Given the description of an element on the screen output the (x, y) to click on. 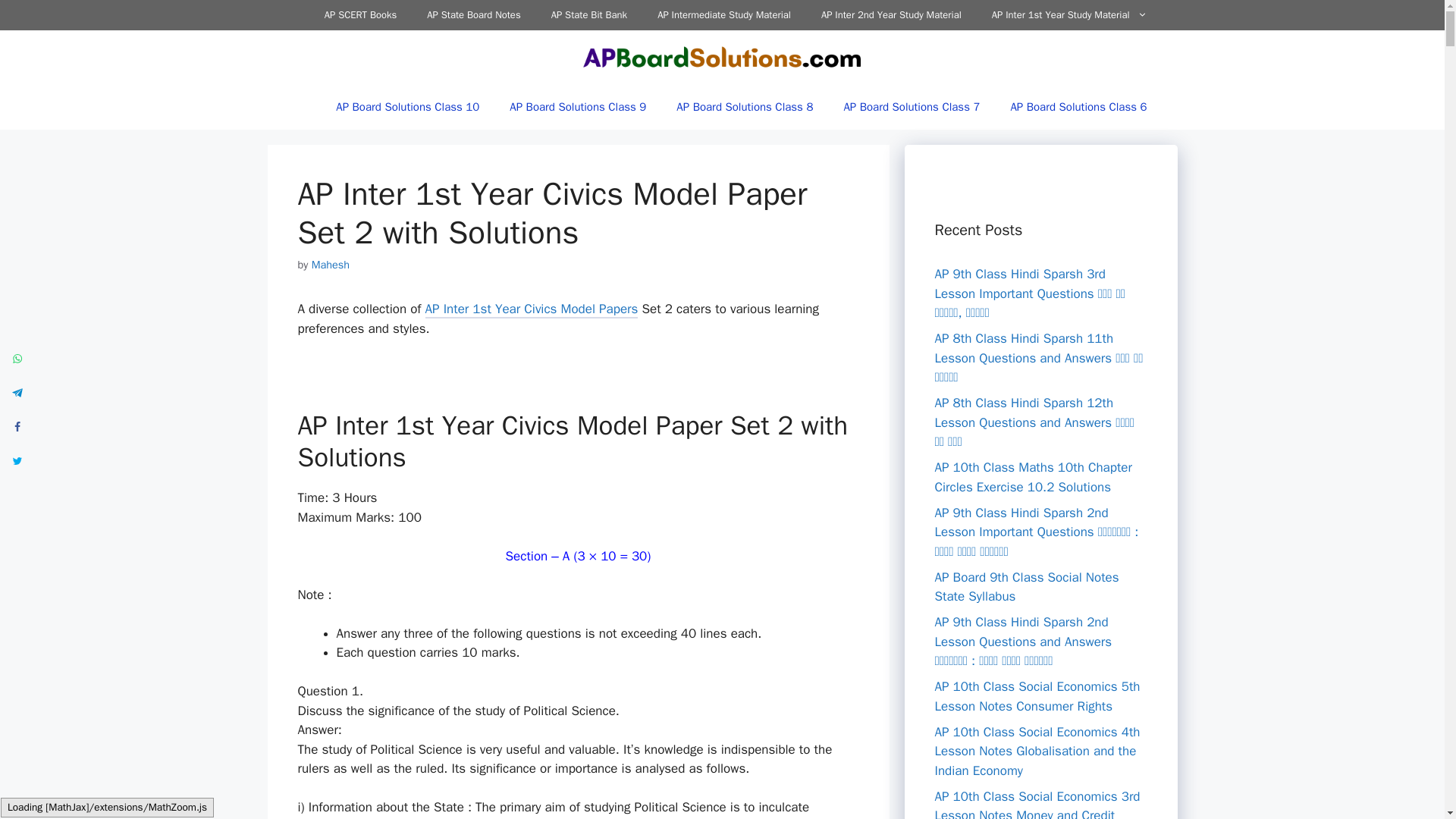
AP Board Solutions Class 9 (578, 106)
AP Board Solutions Class 10 (407, 106)
AP Board Solutions Class 6 (1077, 106)
AP SCERT Books (360, 15)
AP Board Solutions (722, 56)
AP State Bit Bank (588, 15)
Share on WhatsApp (16, 358)
AP Inter 1st Year Study Material (1068, 15)
AP Board Solutions Class 7 (911, 106)
AP Board Solutions Class 8 (744, 106)
AP Board Solutions (722, 56)
Share on Telegram (16, 392)
AP Inter 1st Year Civics Model Papers (532, 310)
AP State Board Notes (473, 15)
